Given the description of an element on the screen output the (x, y) to click on. 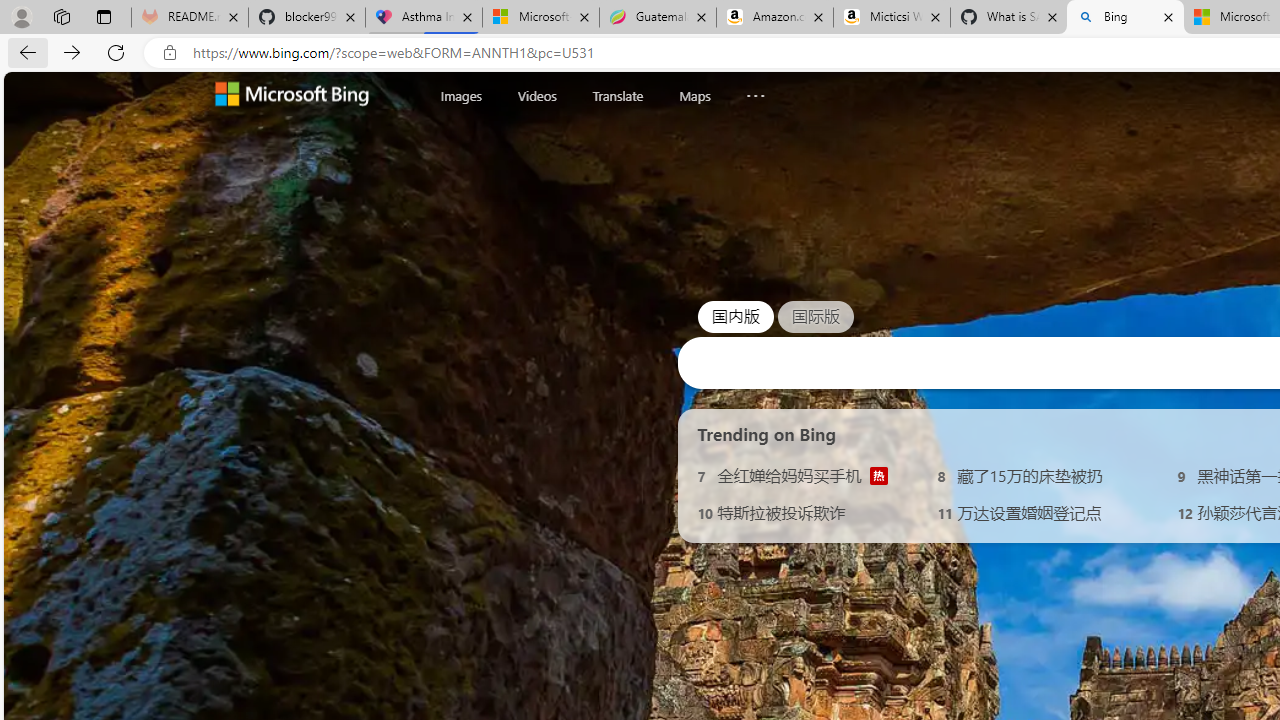
Images (461, 95)
Videos (536, 95)
Maps (694, 95)
Maps (694, 95)
More (755, 91)
Trending on Bing (767, 434)
